Given the description of an element on the screen output the (x, y) to click on. 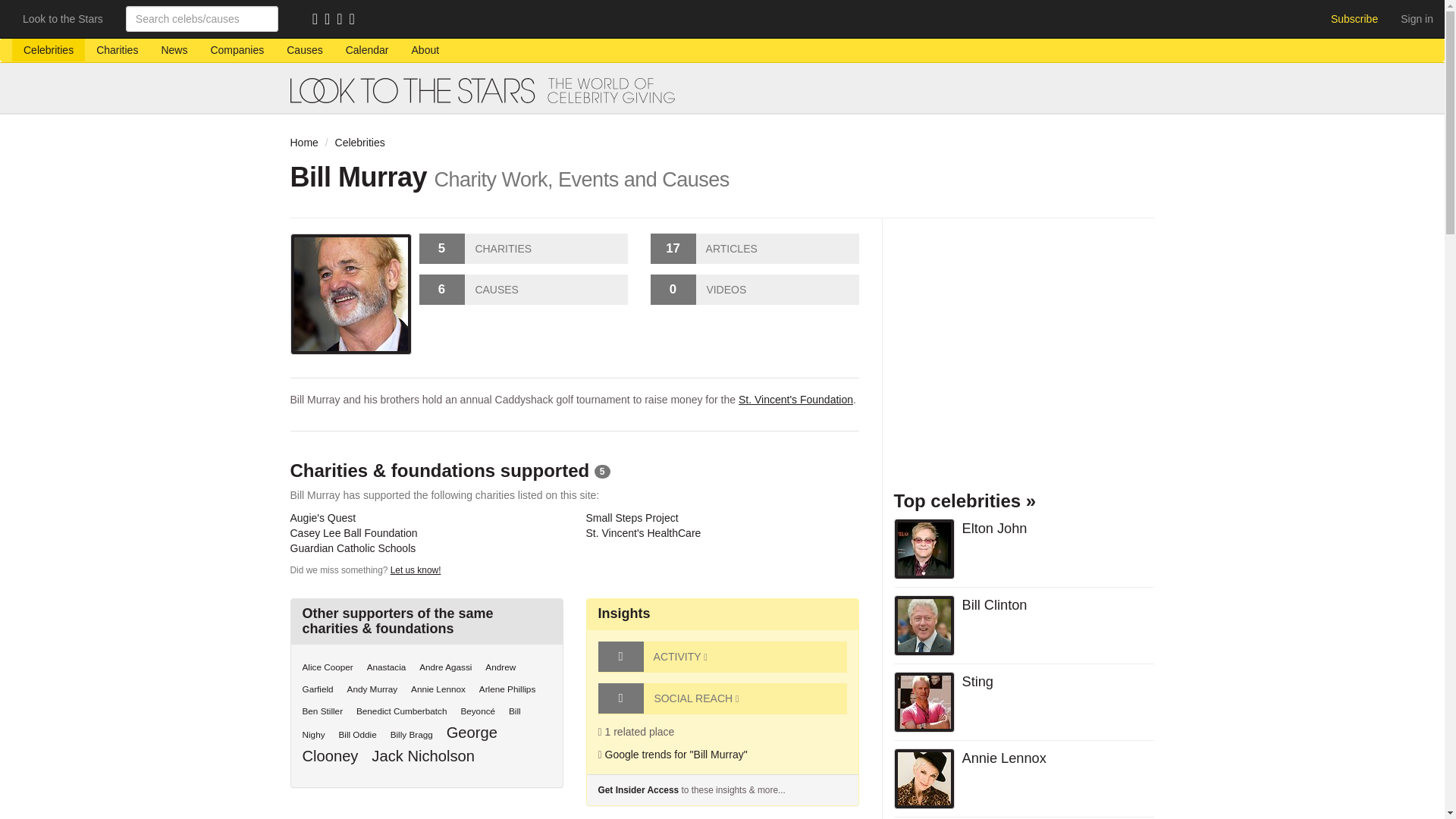
Look to the Stars - the world of celebrity giving (721, 90)
Let us know! (415, 570)
About (425, 49)
Twitter (342, 20)
Mailing list (330, 20)
RSS feed (318, 20)
News (173, 49)
Calendar (367, 49)
Look to the Stars (63, 18)
St. Vincent's HealthCare (642, 532)
Companies (236, 49)
Augie's Quest (322, 517)
Small Steps Project (631, 517)
Celebrities (359, 142)
17 ARTICLES (754, 248)
